Given the description of an element on the screen output the (x, y) to click on. 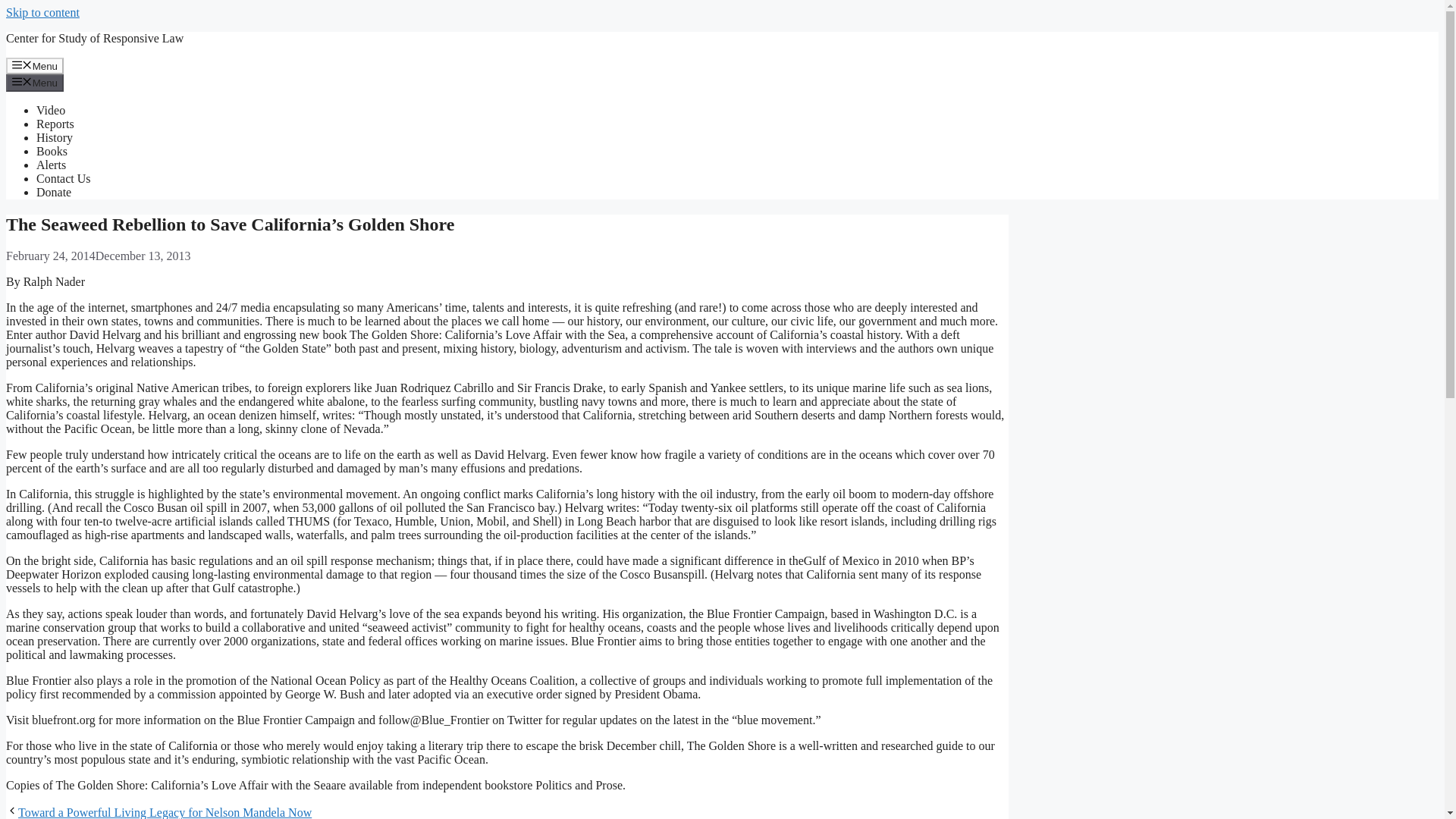
History (54, 137)
Alerts (50, 164)
Center for Study of Responsive Law (94, 38)
Toward a Powerful Living Legacy for Nelson Mandela Now (164, 812)
Skip to content (42, 11)
Reports (55, 123)
Menu (34, 65)
Menu (34, 82)
Skip to content (42, 11)
Video (50, 110)
Donate (53, 192)
Contact Us (63, 178)
Books (51, 151)
